Given the description of an element on the screen output the (x, y) to click on. 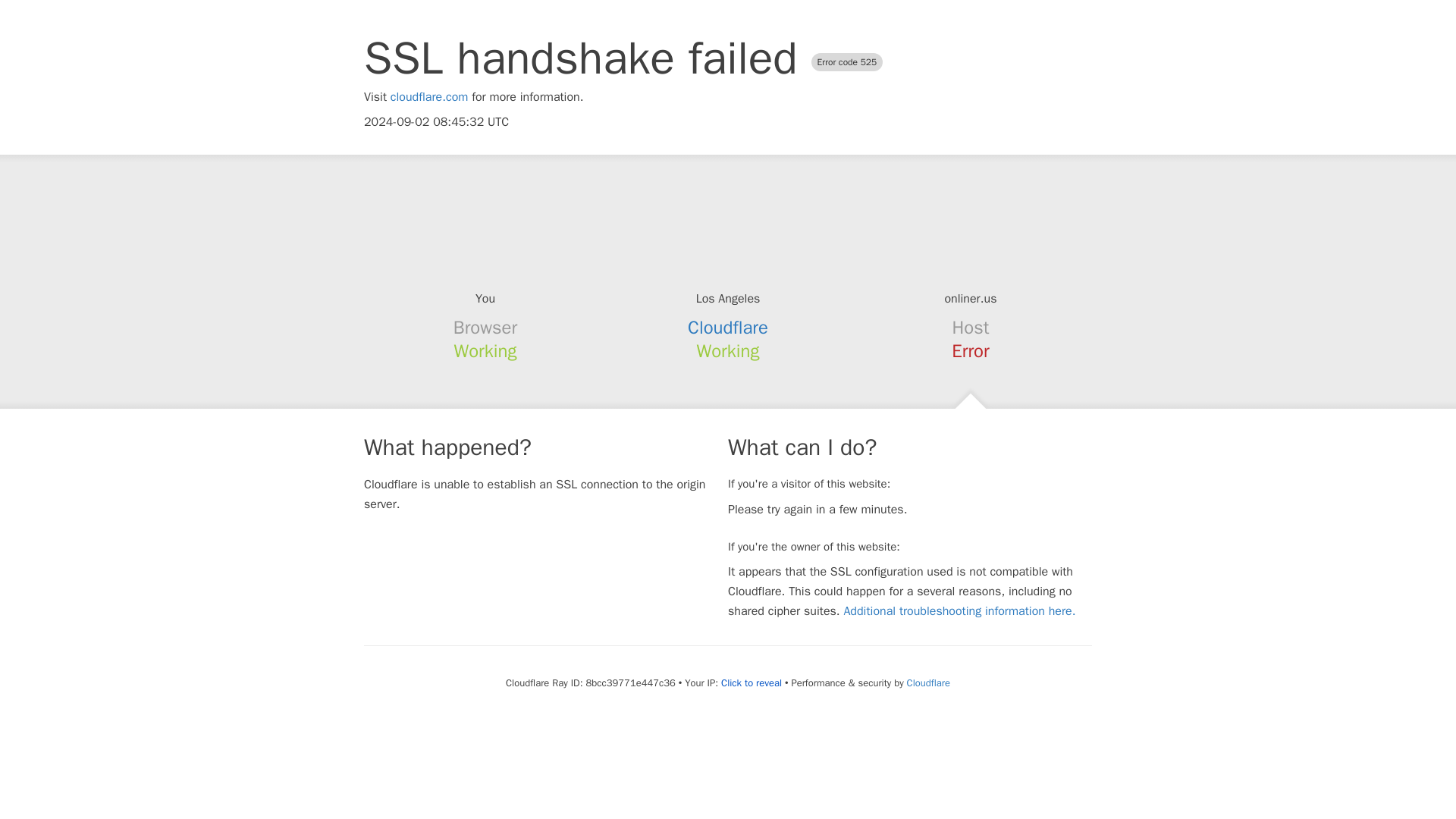
Additional troubleshooting information here. (959, 611)
Cloudflare (727, 327)
Cloudflare (928, 682)
cloudflare.com (429, 96)
Click to reveal (750, 683)
